Given the description of an element on the screen output the (x, y) to click on. 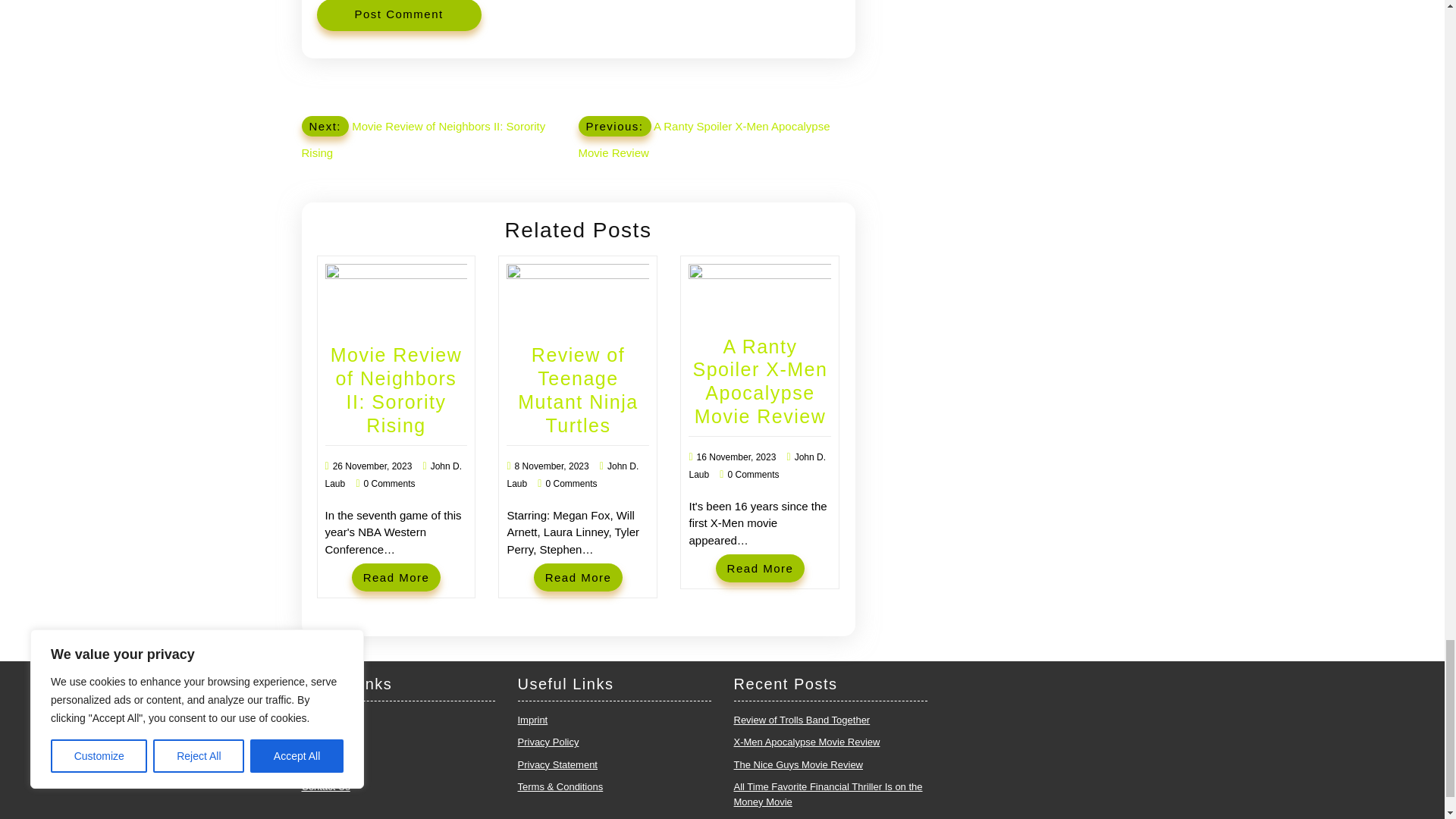
A Ranty Spoiler X-Men Apocalypse Movie Review (760, 380)
Post Comment (399, 15)
Previous: A Ranty Spoiler X-Men Apocalypse Movie Review (703, 137)
Read More (396, 577)
Review of Teenage Mutant Ninja Turtles (577, 388)
Movie Review of Neighbors II: Sorority Rising (396, 388)
Read More (760, 568)
Read More (578, 577)
Movie Review of Neighbors II: Sorority Rising (396, 388)
Read More (396, 577)
